Given the description of an element on the screen output the (x, y) to click on. 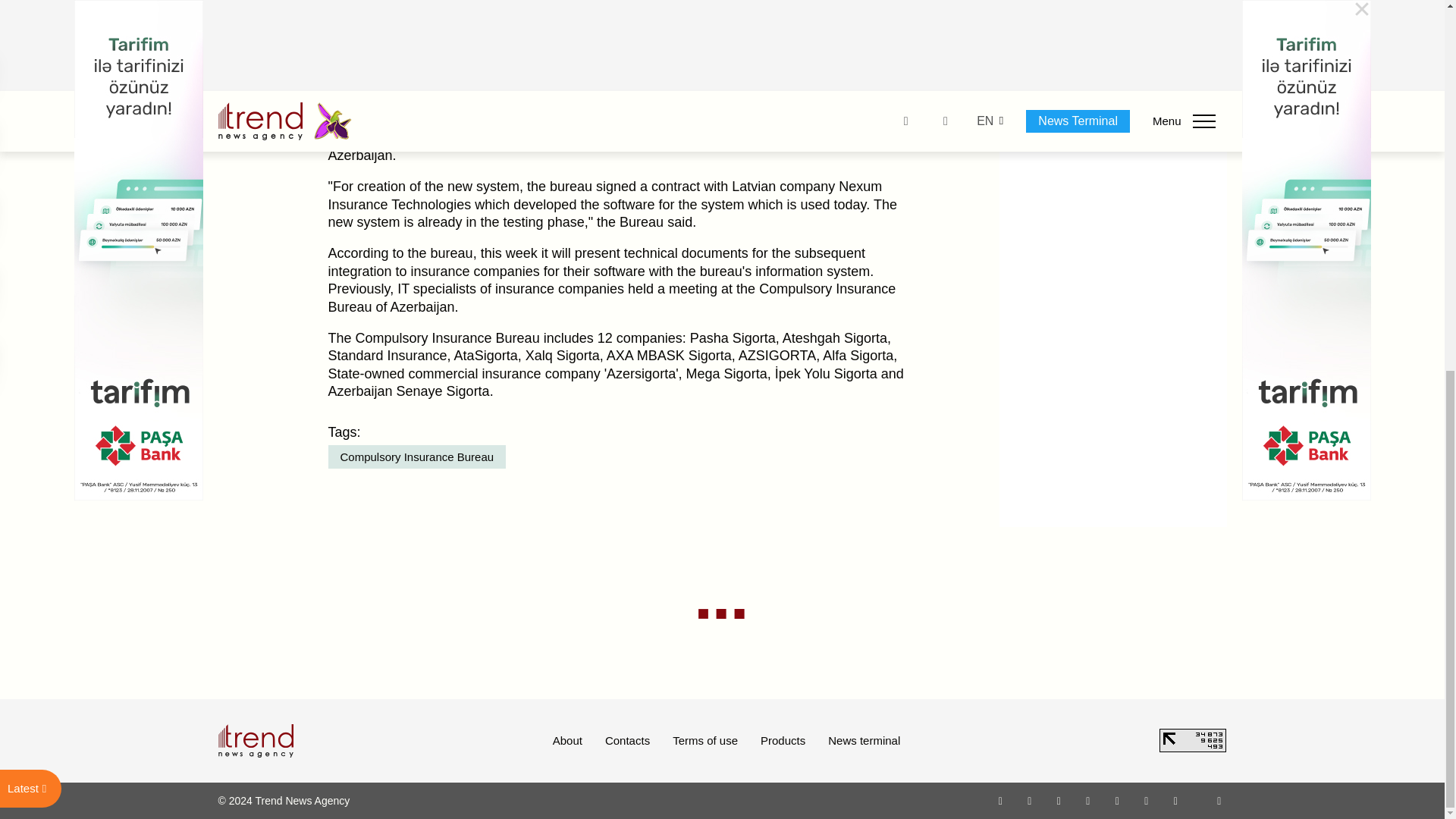
Android App (1176, 800)
Twitter (1059, 800)
RSS Feed (1219, 800)
Facebook (1029, 800)
Youtube (1088, 800)
Whatsapp (1000, 800)
LinkedIn (1146, 800)
Telegram (1117, 800)
